Given the description of an element on the screen output the (x, y) to click on. 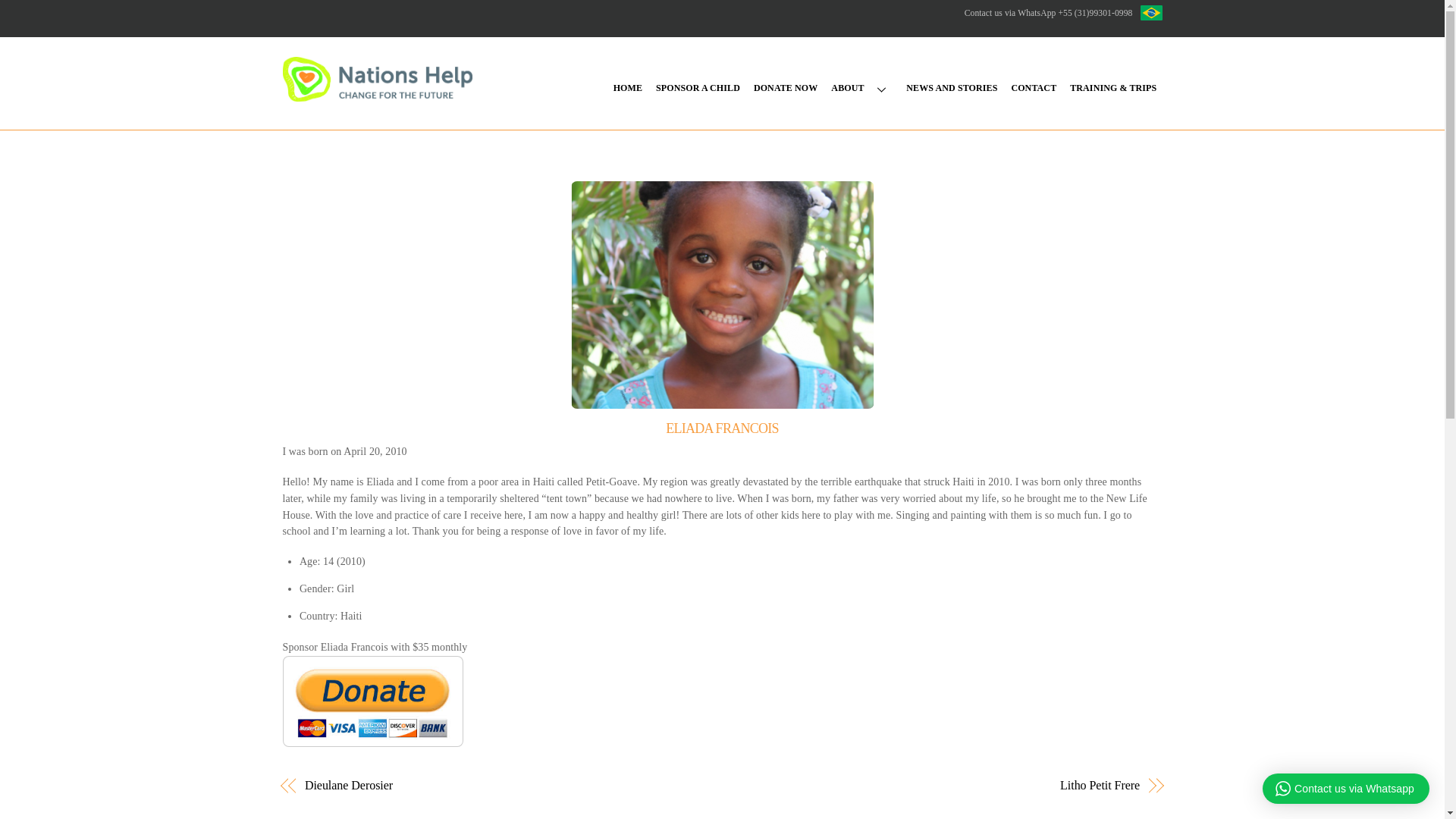
Nations Help (376, 90)
NEWS AND STORIES (952, 88)
SPONSOR A CHILD (697, 88)
Eliada-Francois (721, 294)
DONATE NOW (786, 88)
Dieulane Derosier (499, 785)
CONTACT (1033, 88)
ABOUT (861, 88)
HOME (627, 88)
Litho Petit Frere (944, 785)
